Given the description of an element on the screen output the (x, y) to click on. 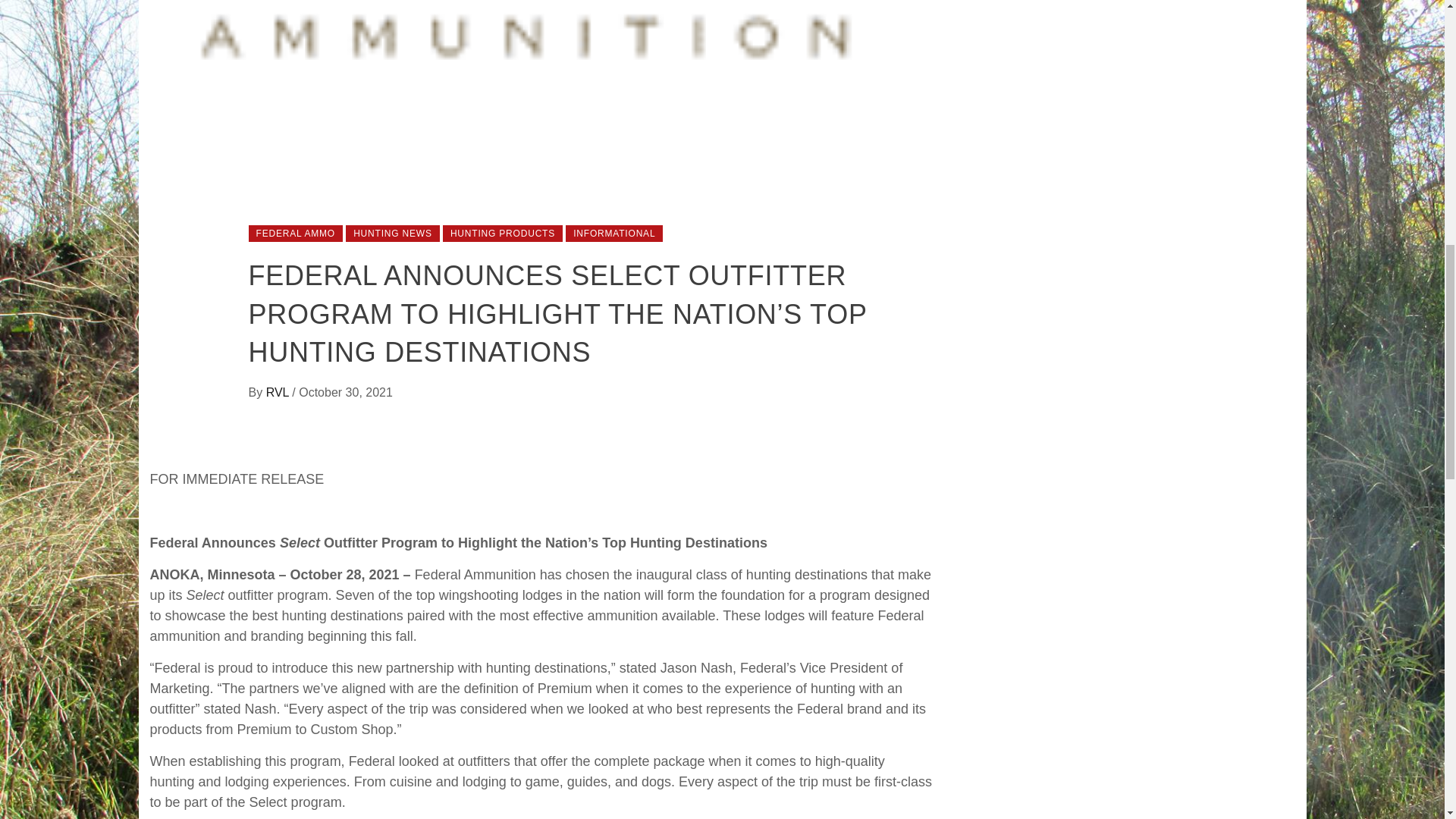
FEDERAL AMMO (295, 233)
HUNTING PRODUCTS (502, 233)
RVL (279, 391)
INFORMATIONAL (614, 233)
HUNTING NEWS (392, 233)
